Given the description of an element on the screen output the (x, y) to click on. 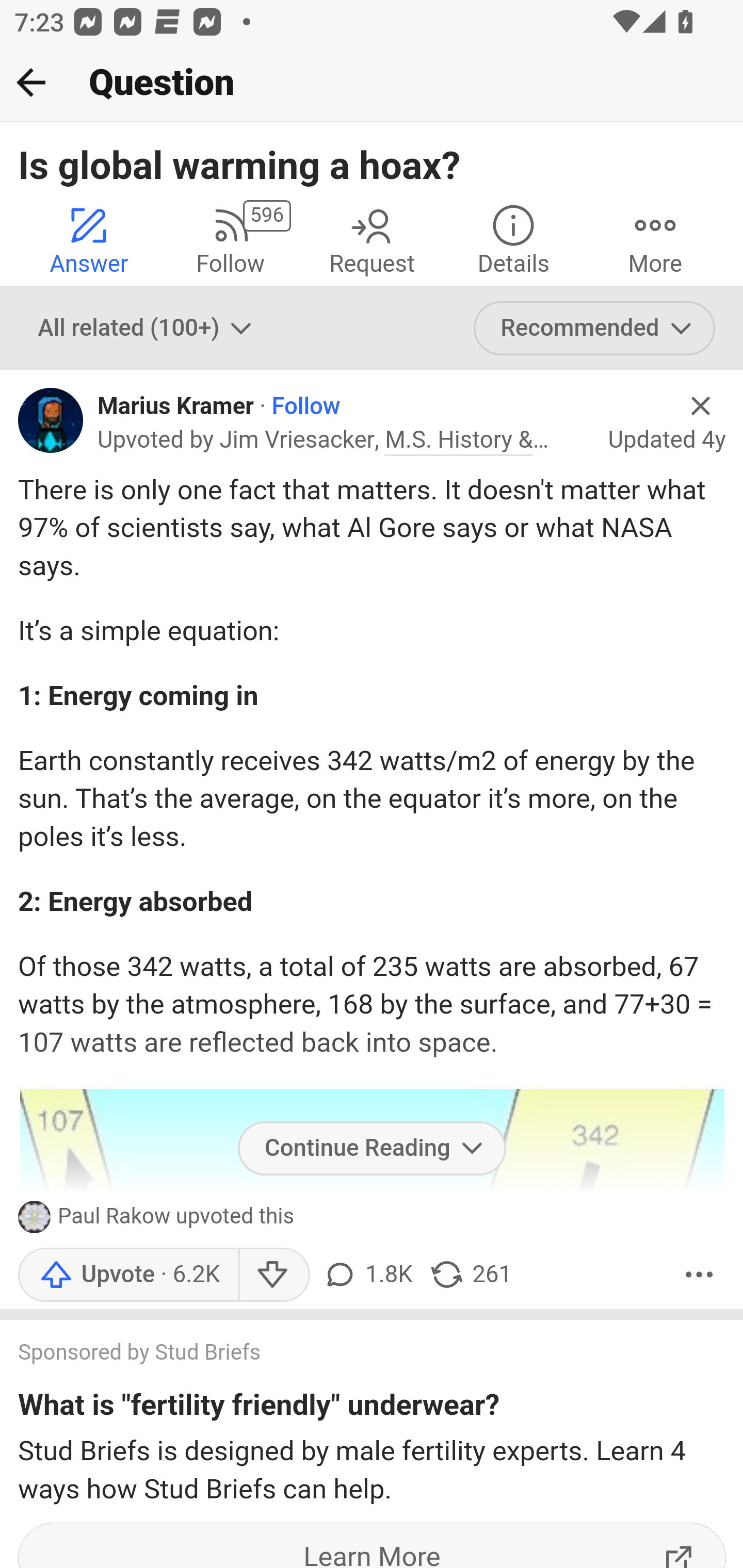
Back Question (371, 82)
Back (30, 82)
Answer (88, 239)
596 Follow (230, 239)
Request (371, 239)
Details (513, 239)
More (655, 239)
All related (100+) (146, 327)
Recommended (594, 327)
Hide (700, 405)
Profile photo for Marius Kramer (50, 420)
Marius Kramer (175, 406)
Follow (306, 406)
Jim Vriesacker (296, 440)
Updated 4y Updated  4 y (667, 439)
main-qimg-b5d4037c9094c3b9a540a7d2f34caaff-lq (371, 1327)
Continue Reading (371, 1147)
Profile photo for Paul Rakow (37, 1216)
Paul Rakow (114, 1217)
Upvote (127, 1274)
Downvote (273, 1274)
1,889 comments (367, 1274)
261 shares (469, 1274)
More (699, 1274)
Sponsored by Stud Briefs (352, 1352)
What is "fertility friendly" underwear? (258, 1407)
Learn More ExternalLink (372, 1545)
